Given the description of an element on the screen output the (x, y) to click on. 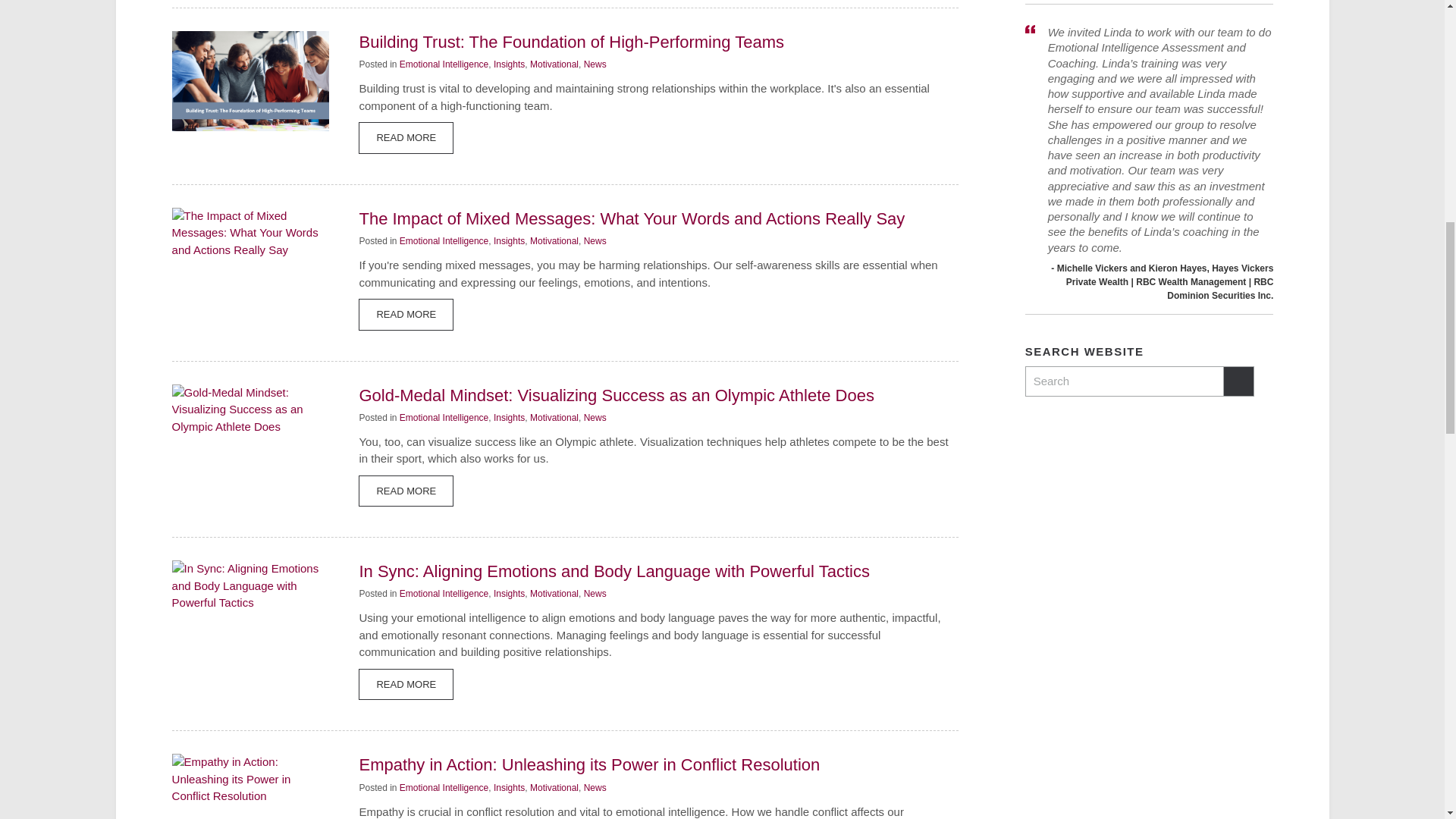
Search (1124, 381)
